Given the description of an element on the screen output the (x, y) to click on. 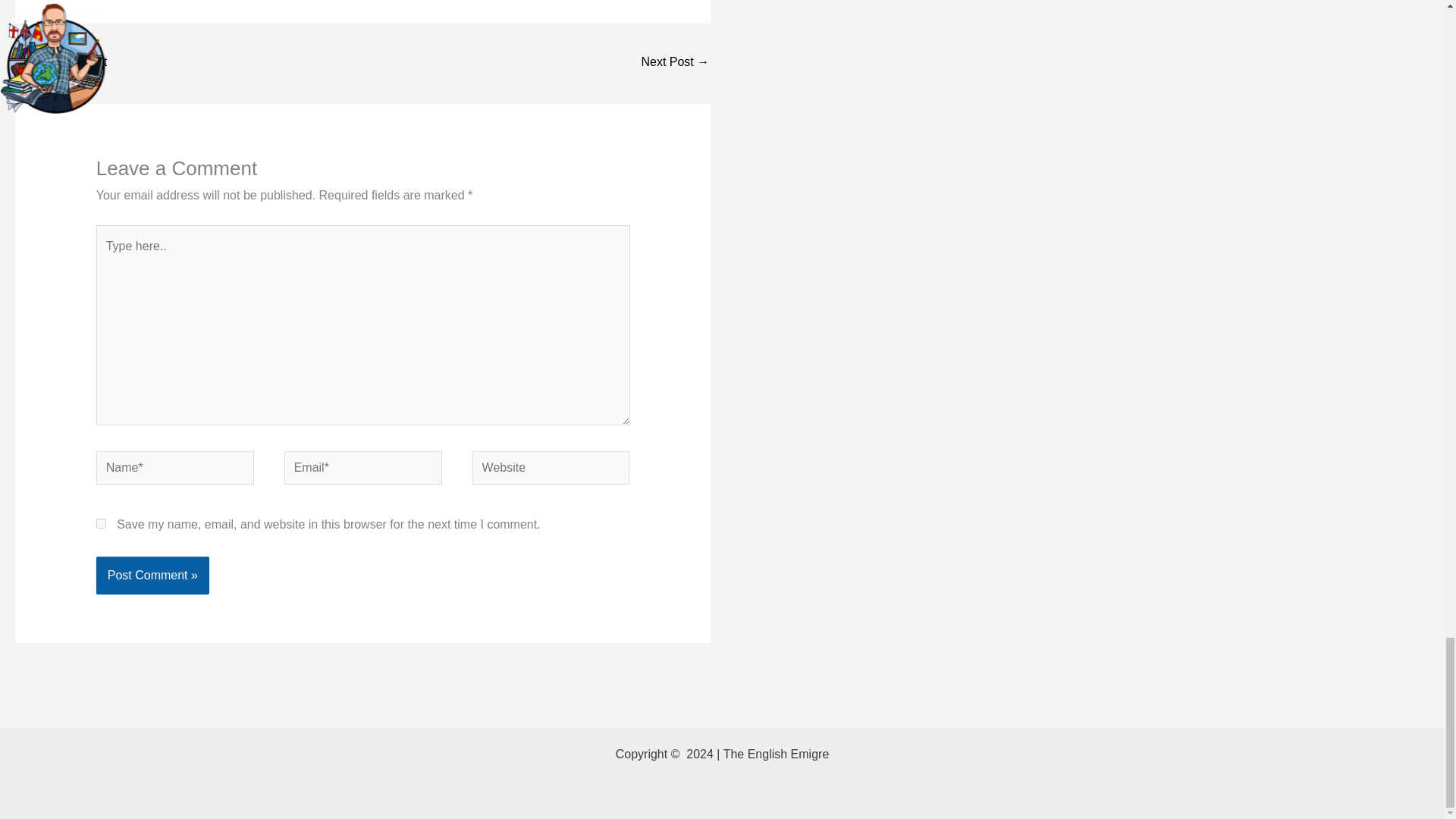
yes (101, 523)
